Given the description of an element on the screen output the (x, y) to click on. 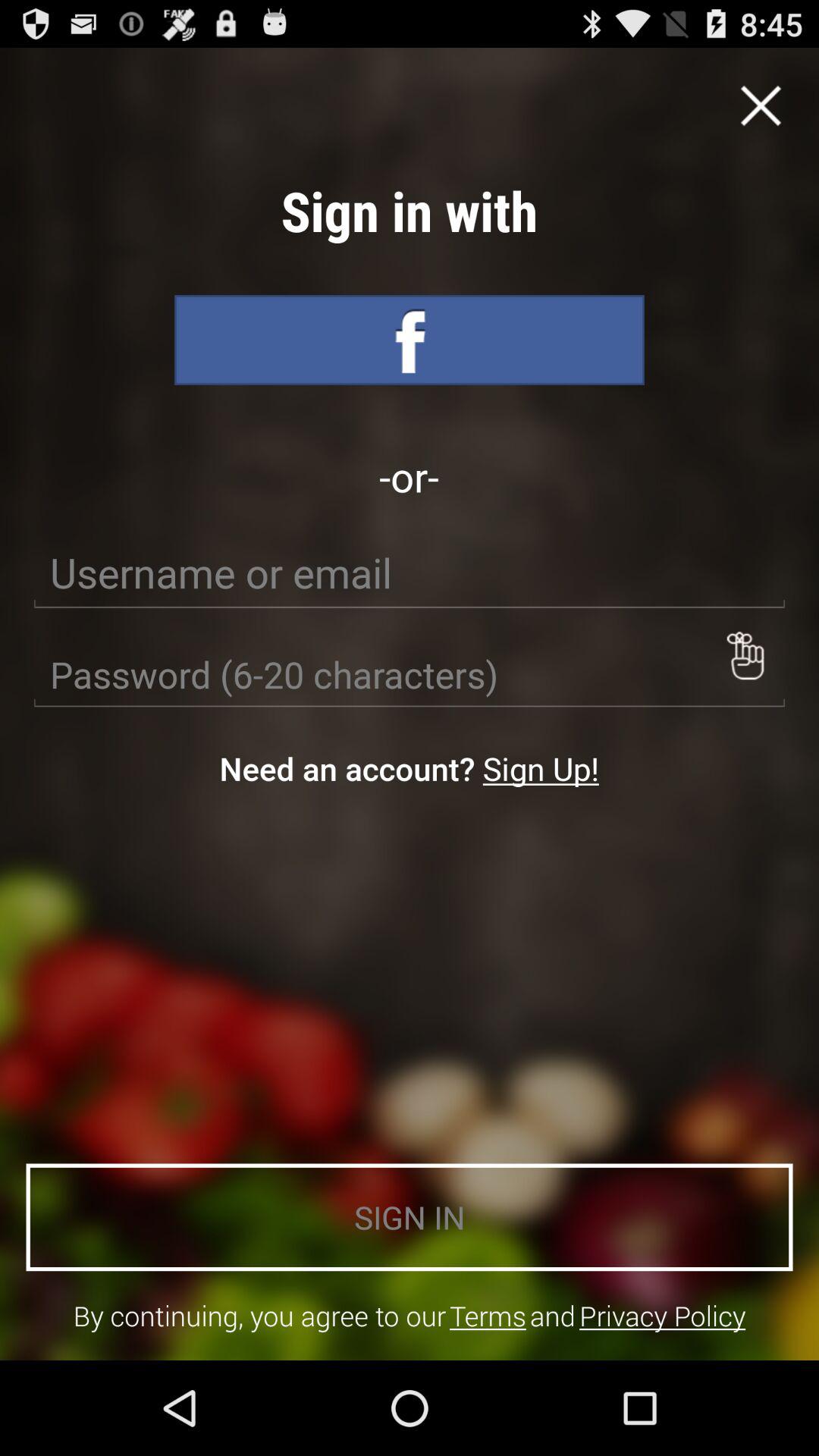
facebook sign up option (409, 340)
